Given the description of an element on the screen output the (x, y) to click on. 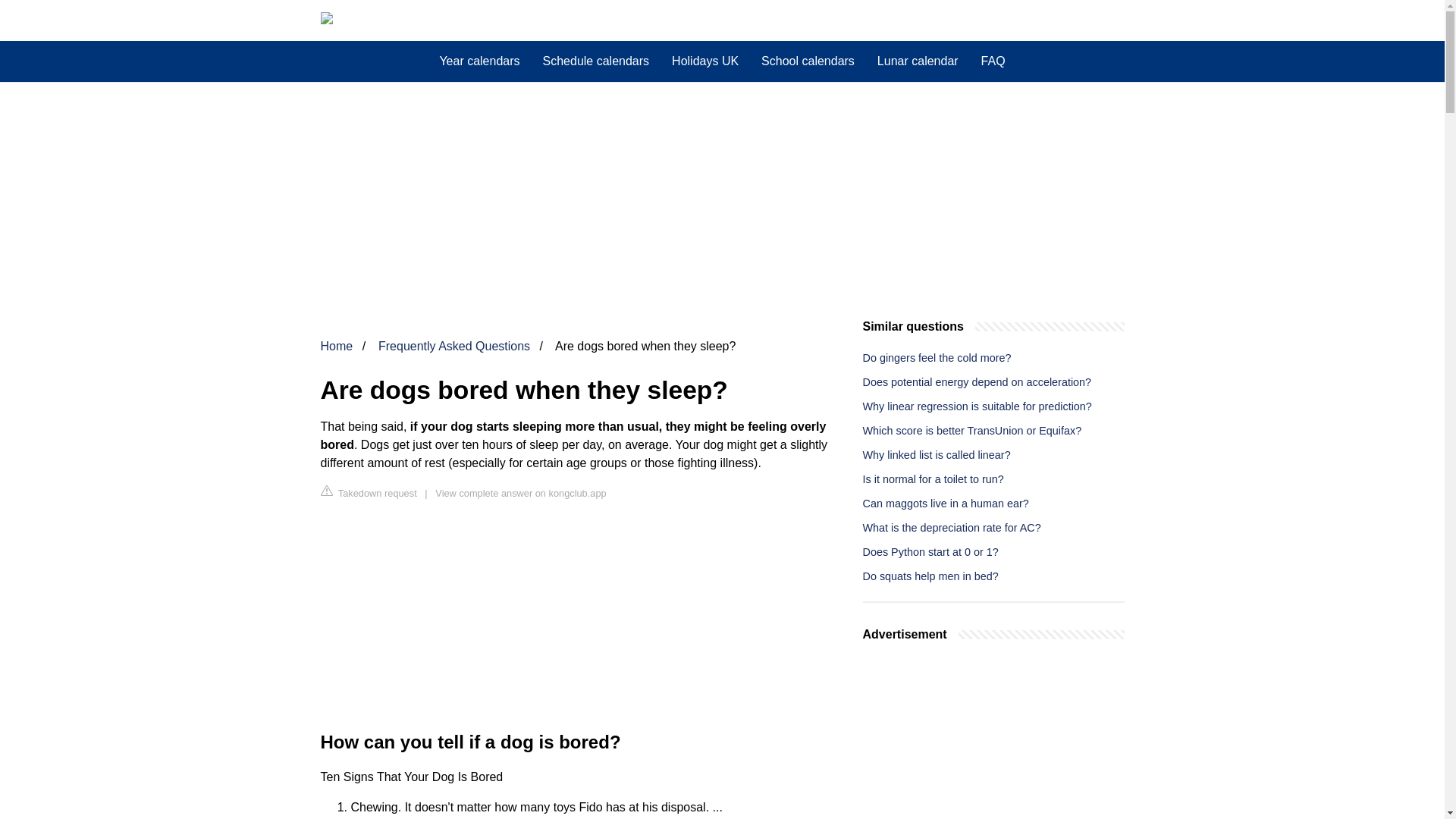
Holidays UK (705, 60)
Takedown request (368, 492)
Year calendars (479, 60)
Lunar calendar (917, 60)
FAQ (992, 60)
Home (336, 345)
Schedule calendars (596, 60)
View complete answer on kongclub.app (520, 492)
School calendars (807, 60)
Frequently Asked Questions (453, 345)
